Given the description of an element on the screen output the (x, y) to click on. 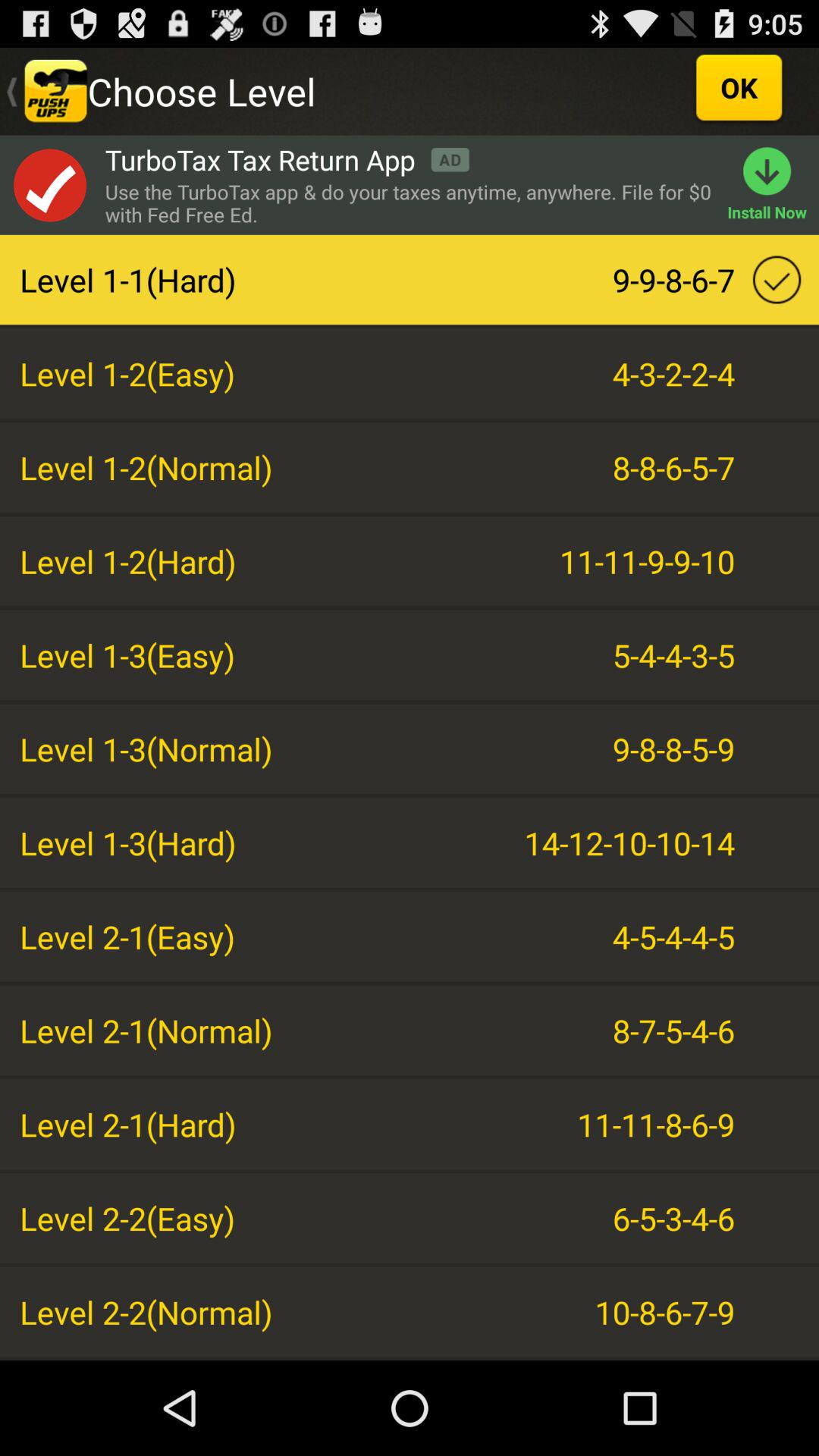
open add (49, 184)
